Given the description of an element on the screen output the (x, y) to click on. 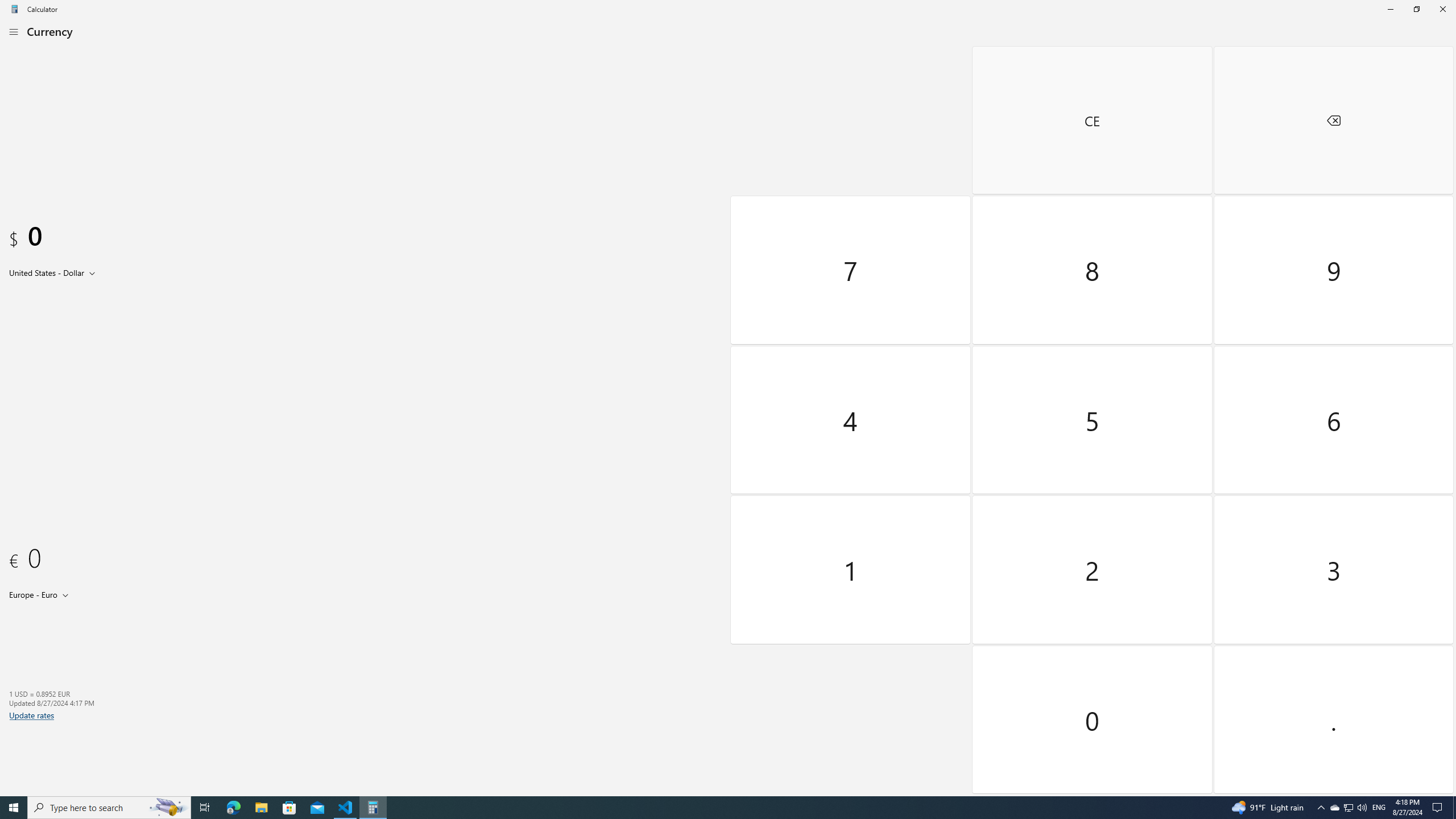
Five (1092, 419)
Europe Euro (31, 593)
One (850, 569)
Open Navigation (13, 31)
United States Dollar (45, 272)
Two (1092, 569)
Eight (1092, 269)
Three (1333, 569)
Restore Calculator (1416, 9)
